Given the description of an element on the screen output the (x, y) to click on. 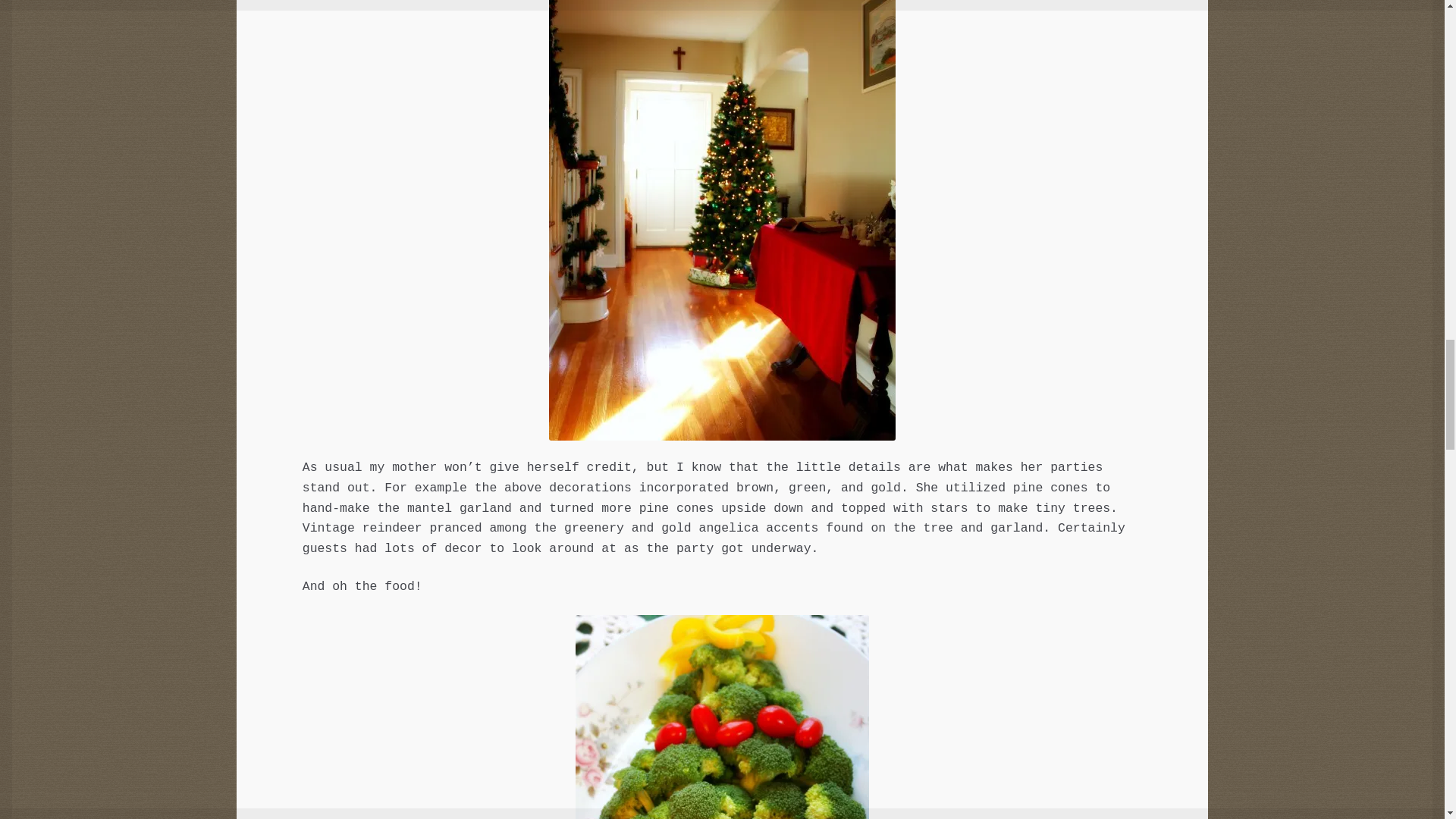
christmas-tree-veggie-tray (722, 717)
